Given the description of an element on the screen output the (x, y) to click on. 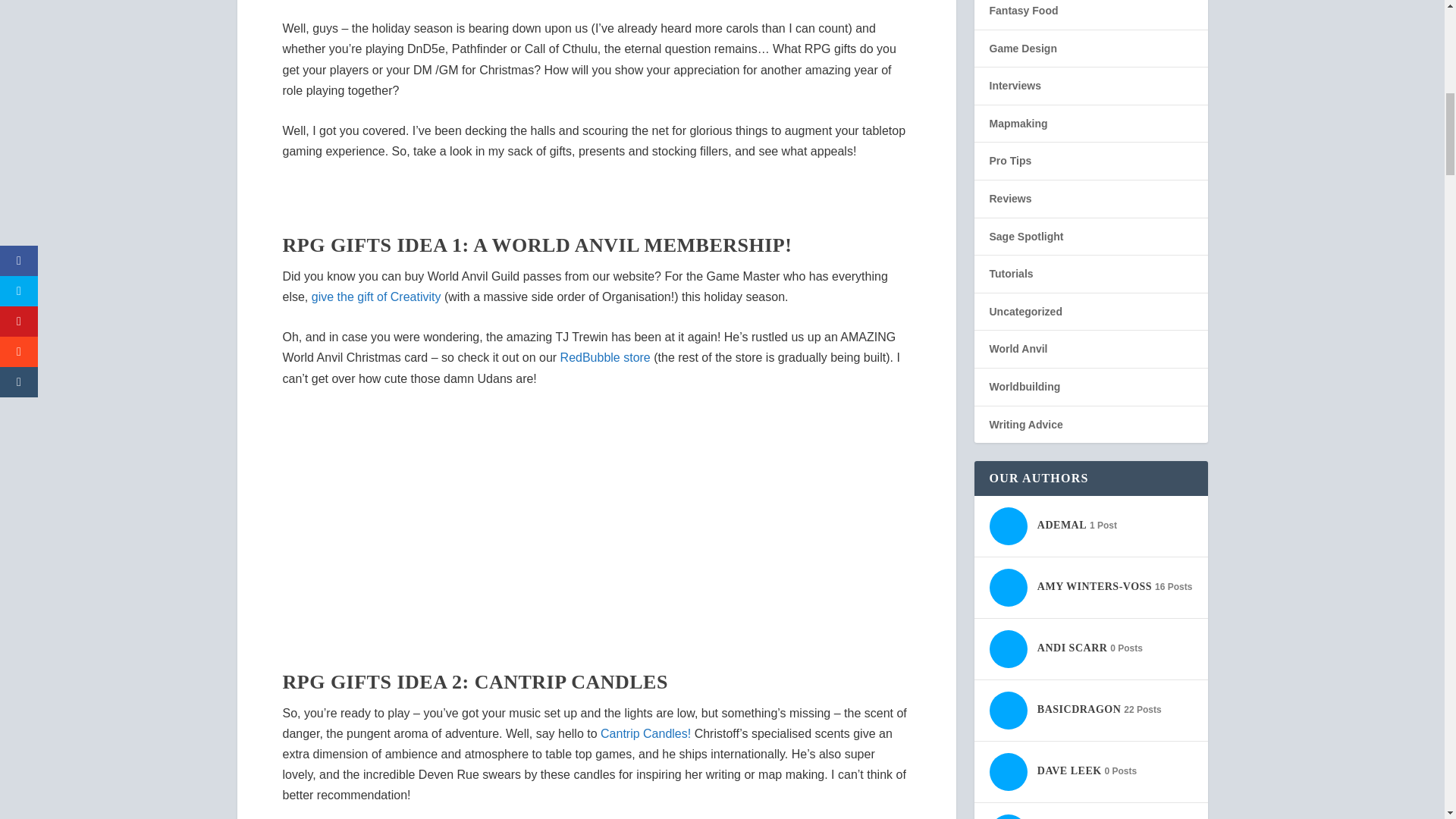
Cantrip Candles! (644, 733)
give the gift of Creativity (376, 296)
RedBubble store (605, 357)
